Given the description of an element on the screen output the (x, y) to click on. 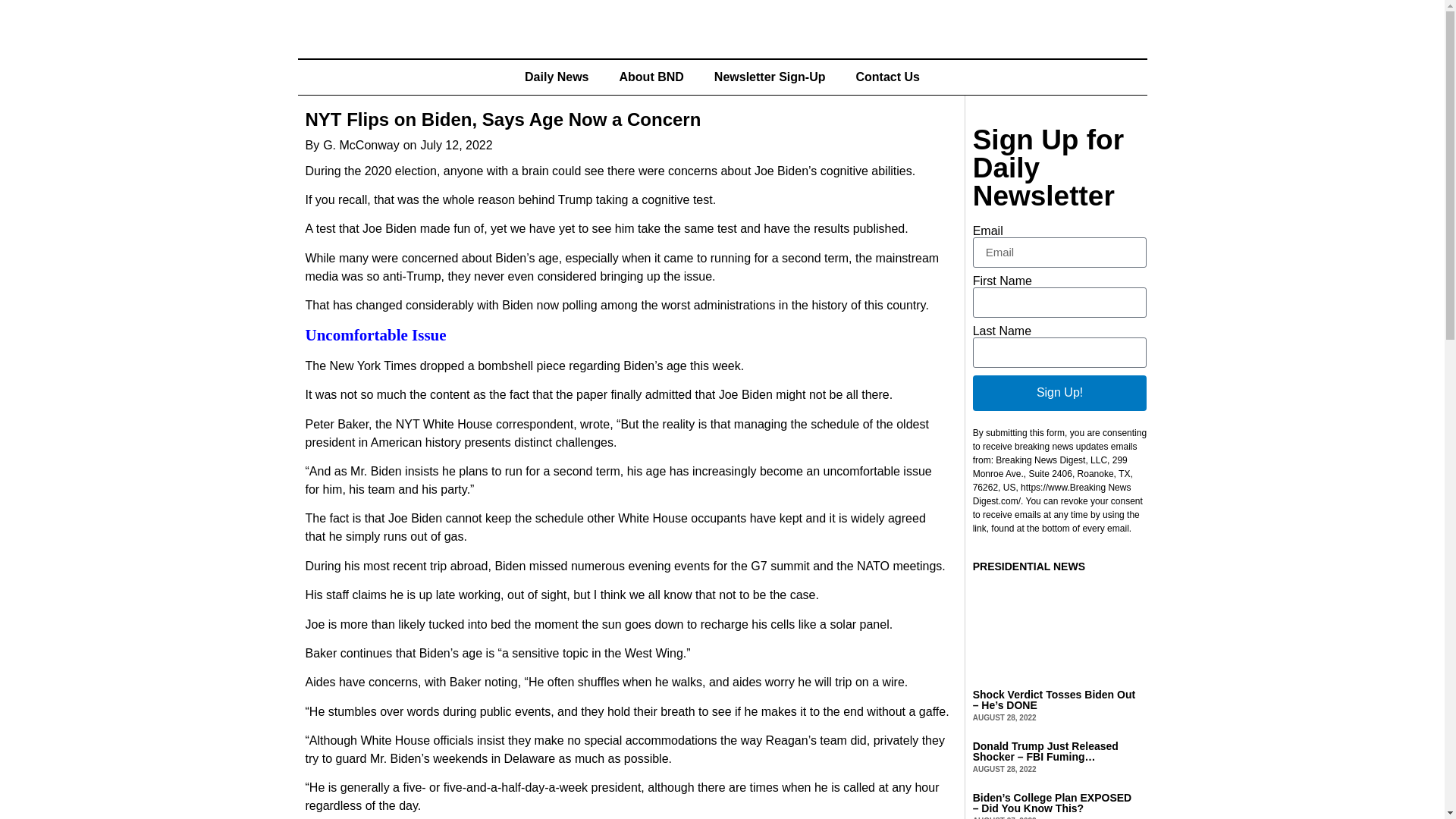
Daily News (556, 77)
About BND (651, 77)
Sign Up! (1059, 393)
AUGUST 27, 2022 (1004, 818)
Newsletter Sign-Up (769, 77)
July 12, 2022 (456, 145)
AUGUST 28, 2022 (1004, 769)
G. McConway (360, 145)
Contact Us (887, 77)
AUGUST 28, 2022 (1004, 717)
